Given the description of an element on the screen output the (x, y) to click on. 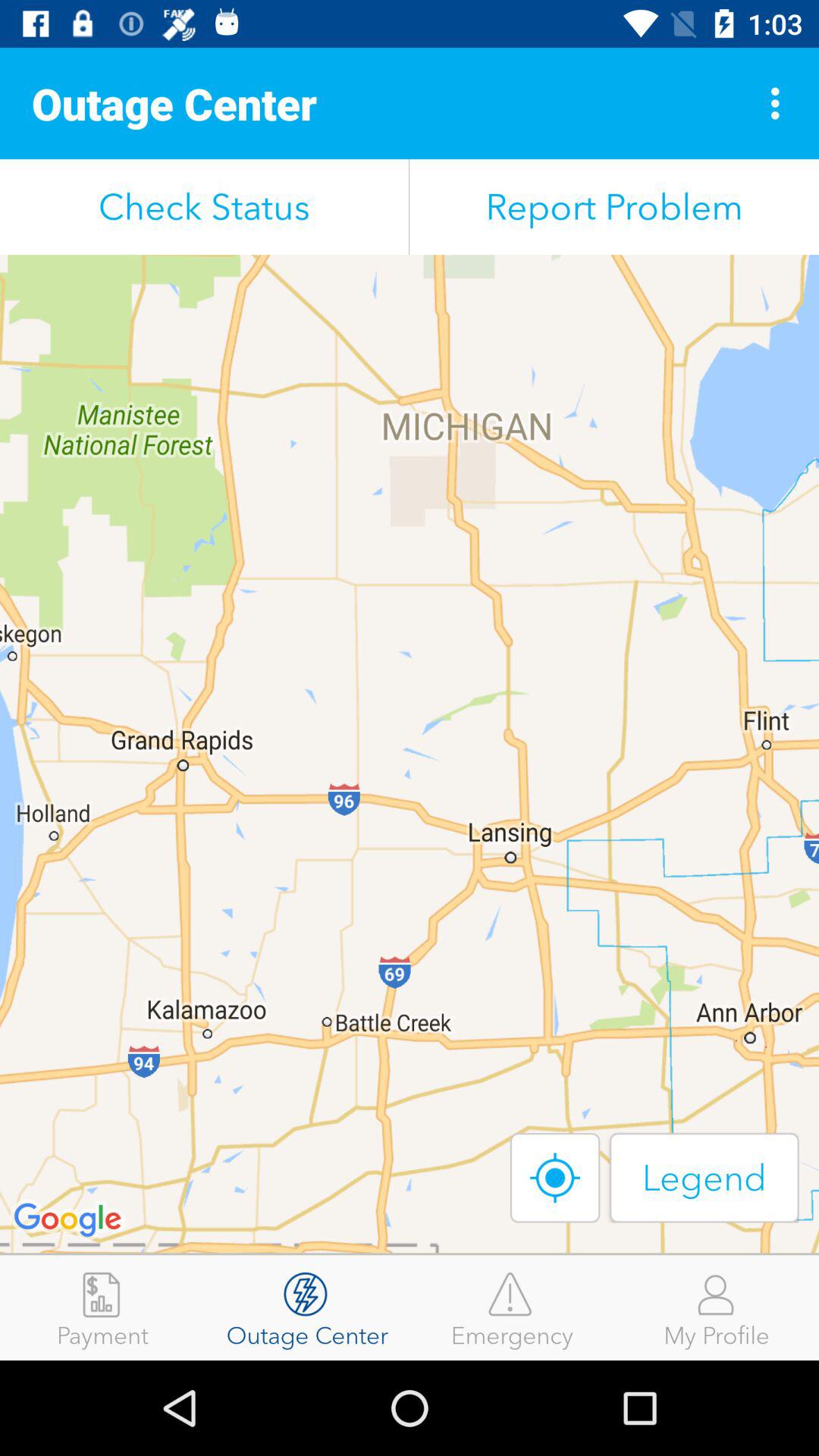
turn off the emergency (511, 1307)
